Given the description of an element on the screen output the (x, y) to click on. 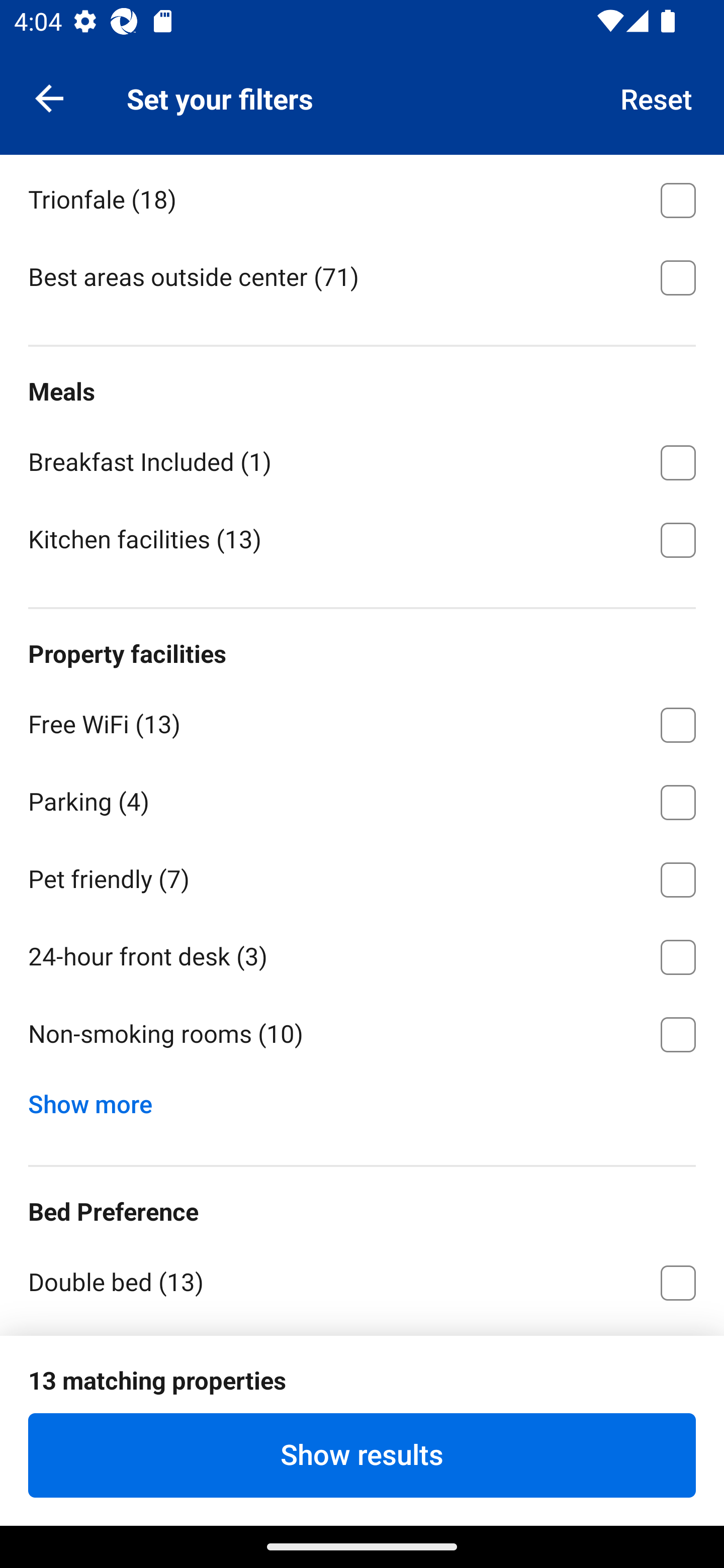
Navigate up (49, 97)
Reset (656, 97)
Trionfale ⁦(18) (361, 196)
Best areas outside center ⁦(71) (361, 275)
Breakfast Included ⁦(1) (361, 459)
Kitchen facilities ⁦(13) (361, 538)
Free WiFi ⁦(13) (361, 721)
Parking ⁦(4) (361, 798)
Pet friendly ⁦(7) (361, 876)
24-hour front desk ⁦(3) (361, 953)
Non-smoking rooms ⁦(10) (361, 1034)
Show more (97, 1099)
Double bed ⁦(13) (361, 1280)
Show results (361, 1454)
